Given the description of an element on the screen output the (x, y) to click on. 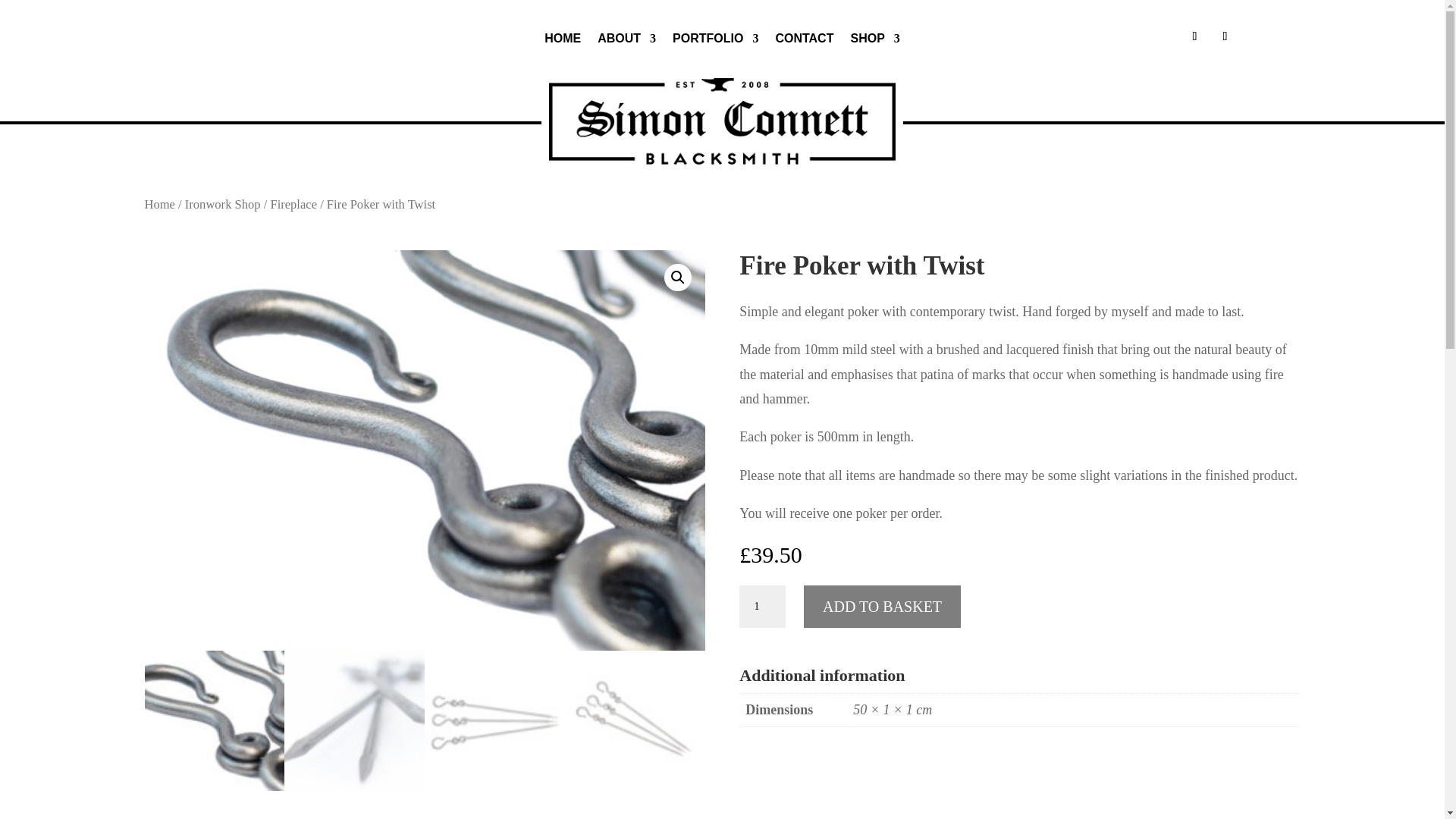
ABOUT (626, 41)
HOME (562, 41)
SHOP (874, 41)
CONTACT (803, 41)
Ironwork Shop (222, 204)
Follow on X (1224, 36)
Simon Connett Artist Blacksmith (721, 120)
1 (761, 606)
Follow on Instagram (1194, 36)
Home (159, 204)
PORTFOLIO (715, 41)
Fireplace (293, 204)
